Given the description of an element on the screen output the (x, y) to click on. 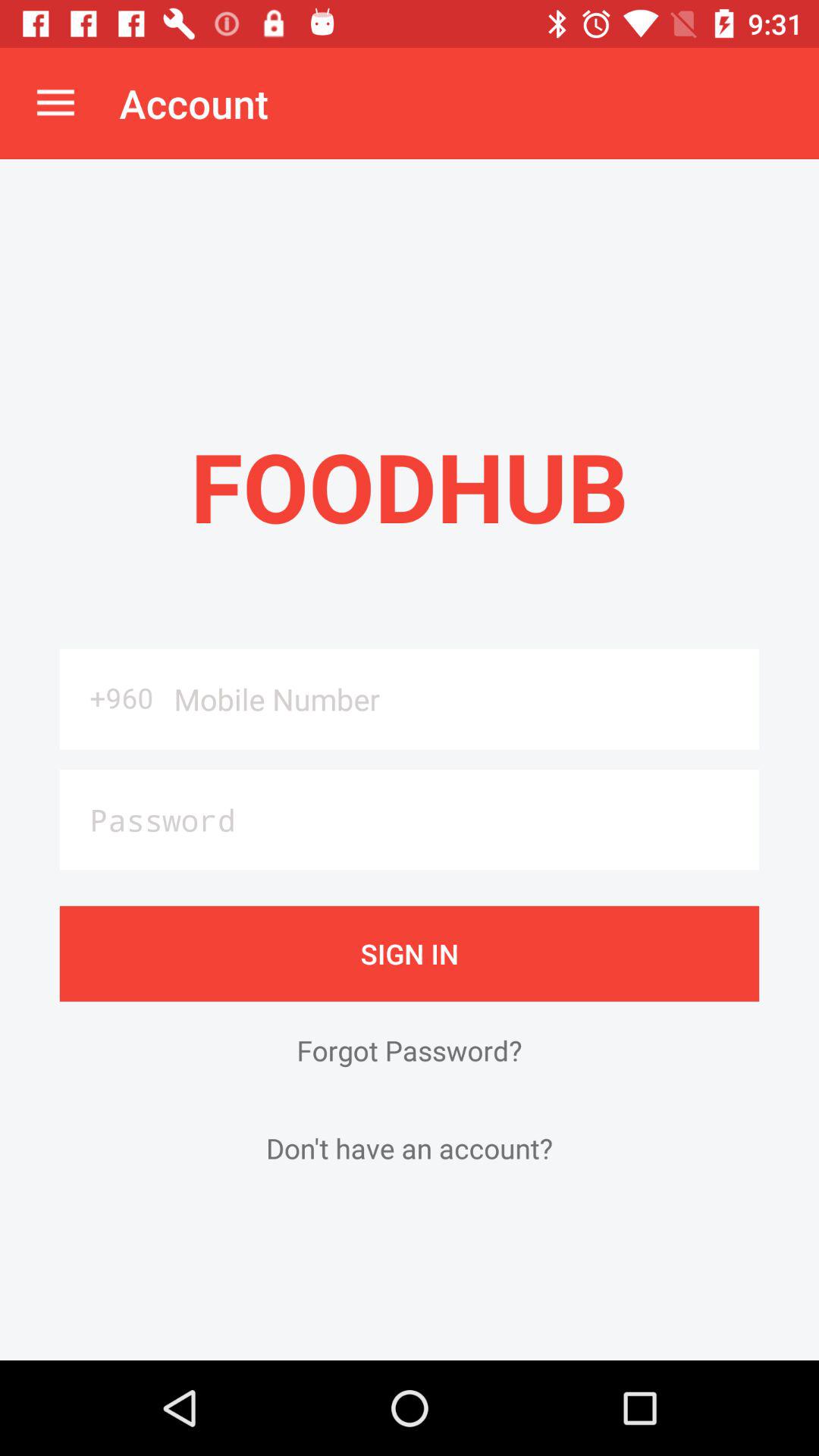
tap forgot password? (409, 1050)
